Given the description of an element on the screen output the (x, y) to click on. 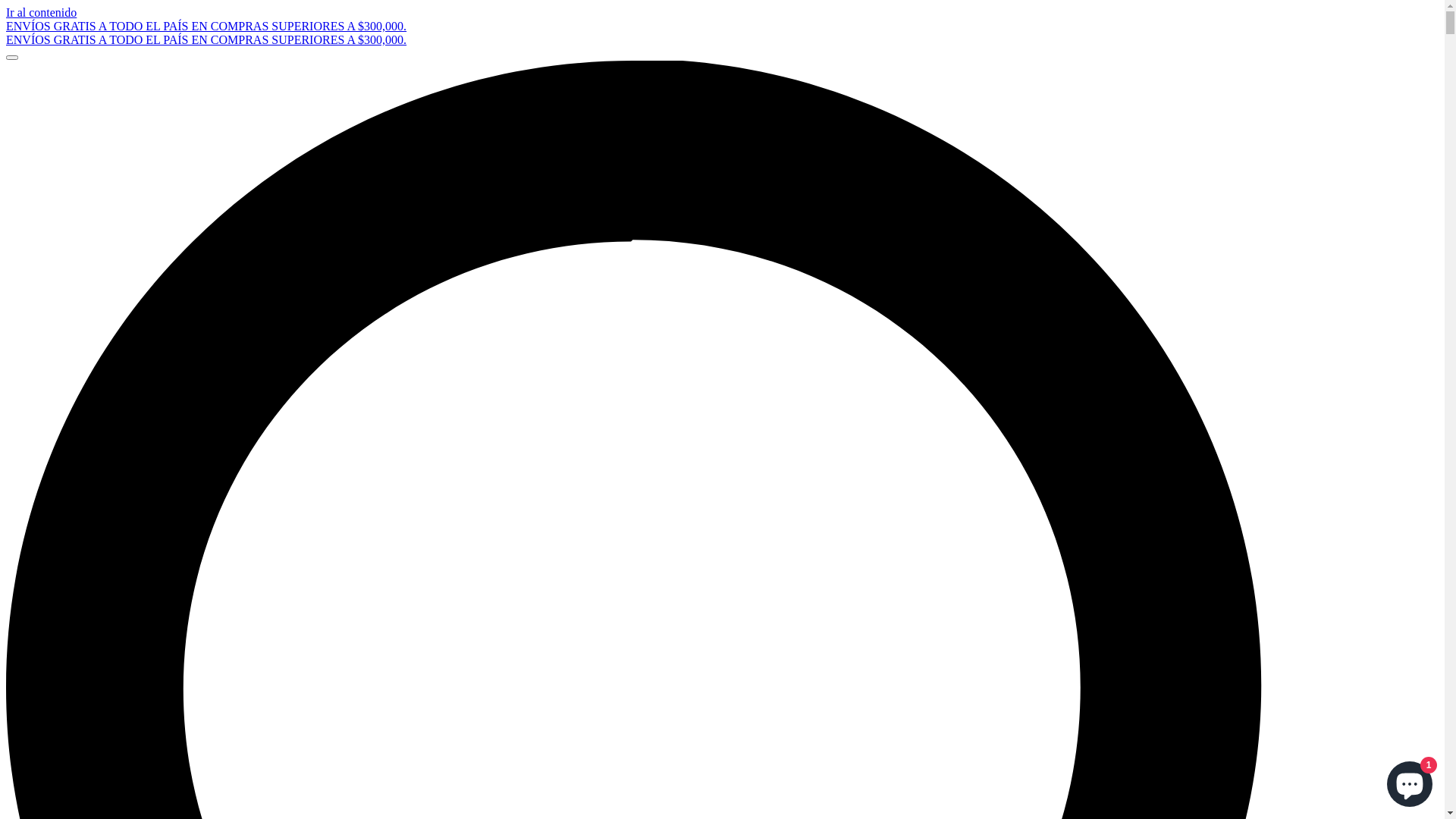
Ir al contenido Element type: text (41, 12)
Chat de la tienda online Shopify Element type: hover (1409, 780)
